Given the description of an element on the screen output the (x, y) to click on. 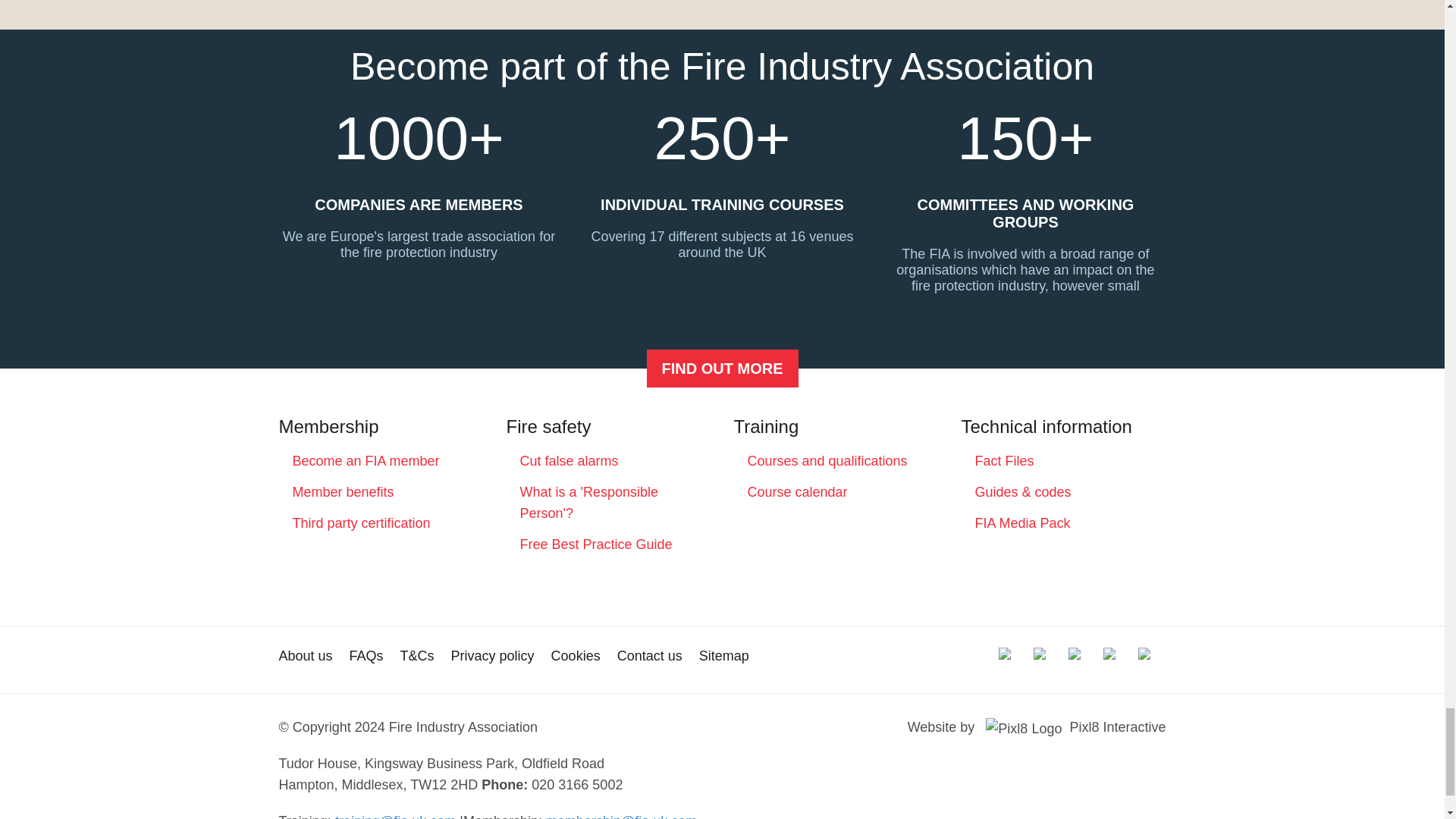
Free Best Practice Guide (595, 544)
FIA Media Pack (1022, 522)
Third party certification (361, 522)
FAQs (366, 655)
Contact us (649, 655)
Courses and qualifications (827, 460)
About us (306, 655)
Become an FIA member (365, 460)
Sitemap (723, 655)
Course calendar (797, 491)
